Given the description of an element on the screen output the (x, y) to click on. 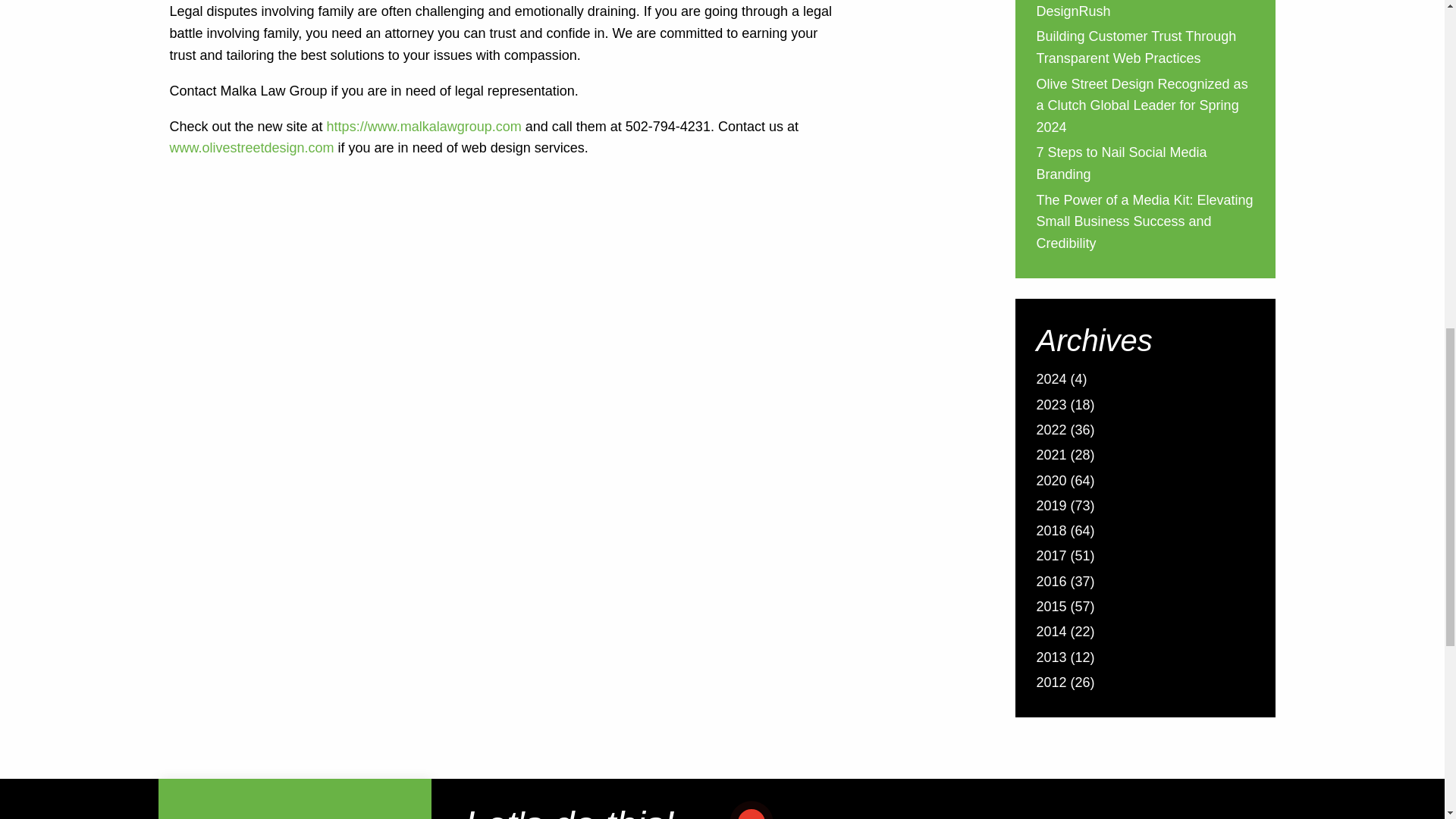
2020 (1050, 482)
2021 (1050, 456)
7 Steps to Nail Social Media Branding (1121, 164)
2017 (1050, 557)
START YOUR PROJECT (826, 812)
Building Customer Trust Through Transparent Web Practices (1135, 48)
2019 (1050, 506)
2016 (1050, 583)
2014 (1050, 633)
2022 (1050, 431)
